Given the description of an element on the screen output the (x, y) to click on. 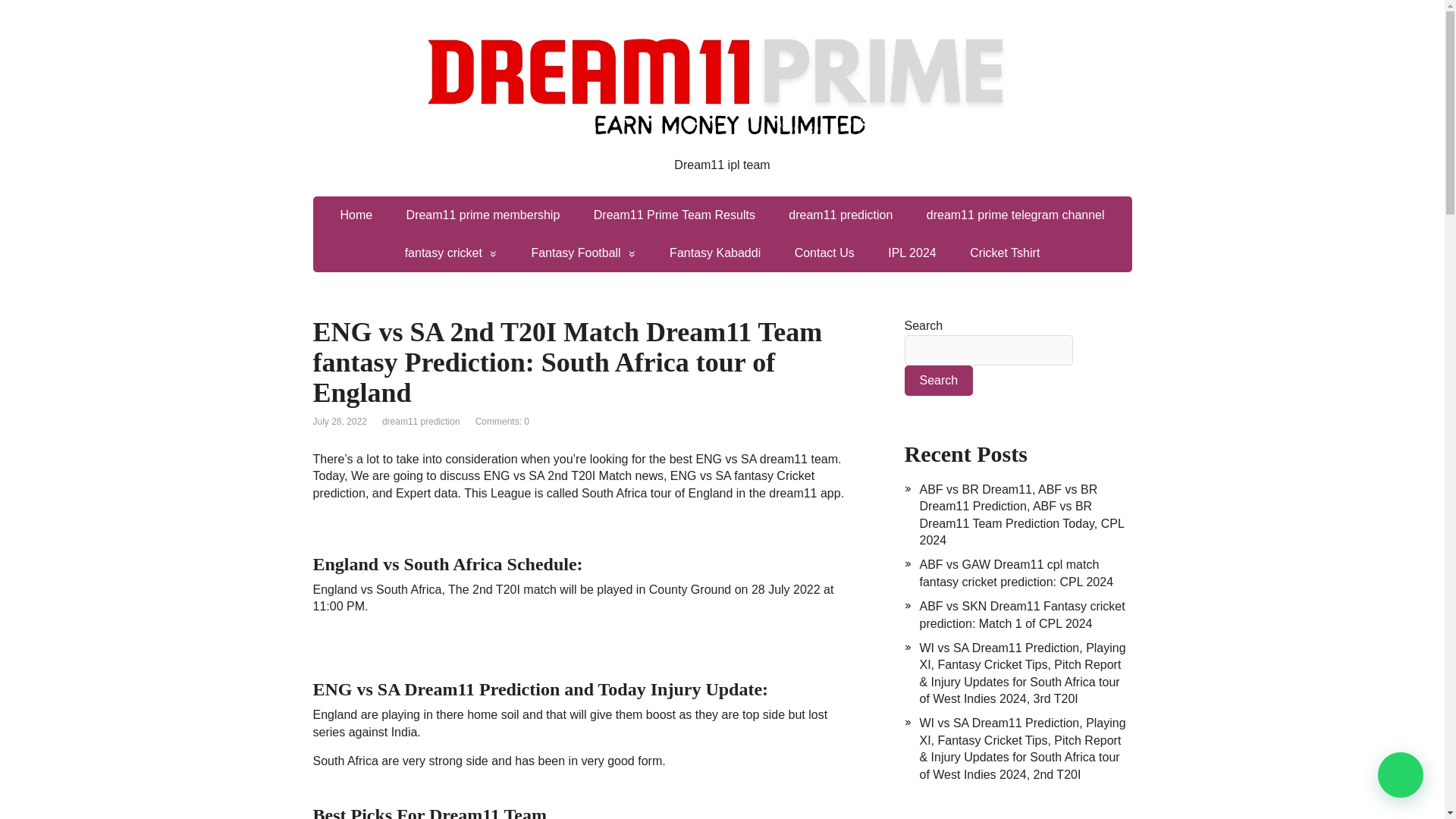
dream11 prime telegram channel (1015, 215)
Fantasy Football (582, 252)
dream11 prediction (420, 421)
Home (355, 215)
dream11 prediction (840, 215)
Dream11 Prime Team Results (674, 215)
Cricket Tshirt (1004, 252)
Fantasy Kabaddi (714, 252)
Contact Us (823, 252)
Comments: 0 (502, 421)
